Given the description of an element on the screen output the (x, y) to click on. 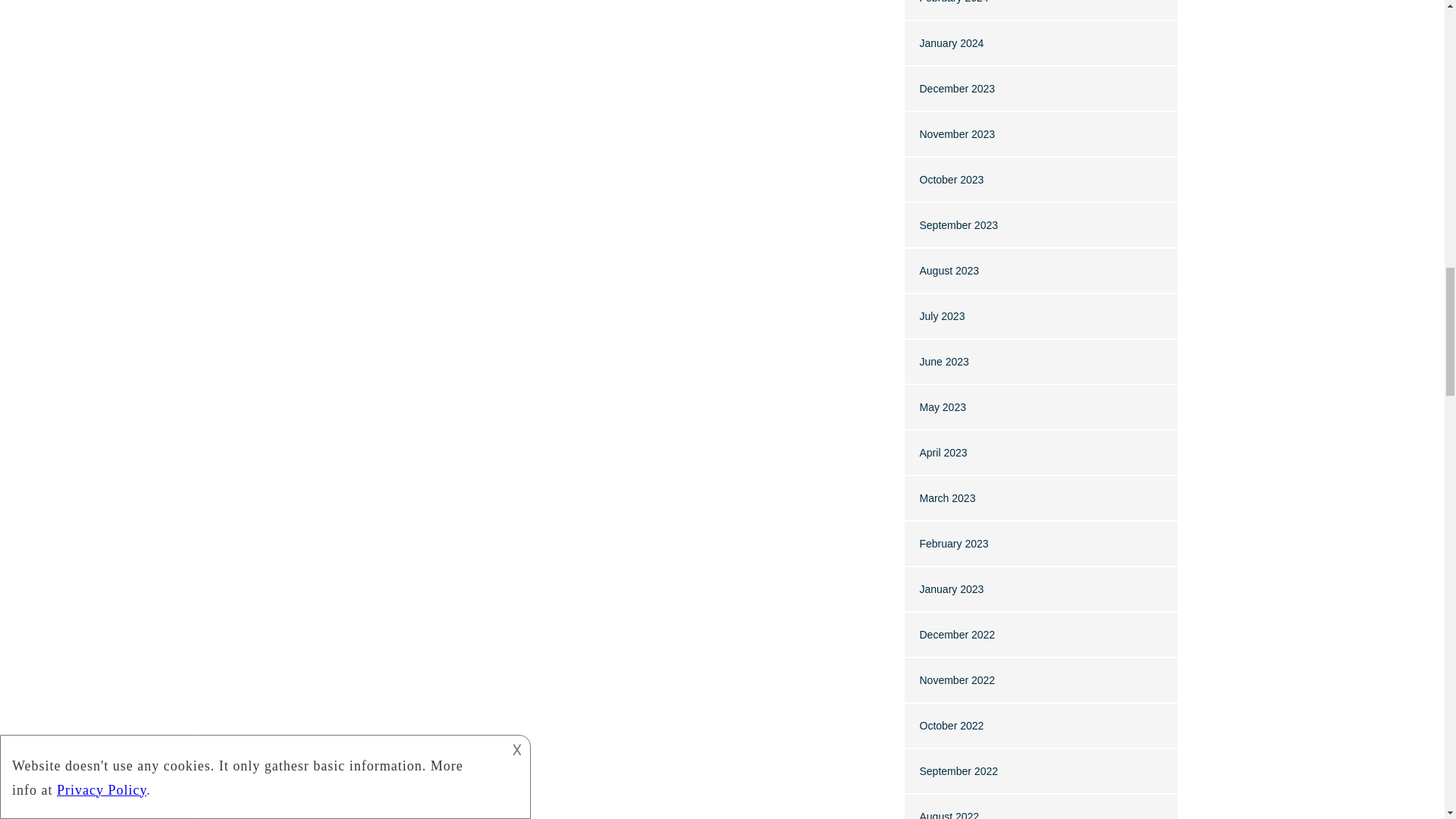
January 2024 (951, 42)
December 2023 (956, 88)
February 2024 (953, 2)
